Given the description of an element on the screen output the (x, y) to click on. 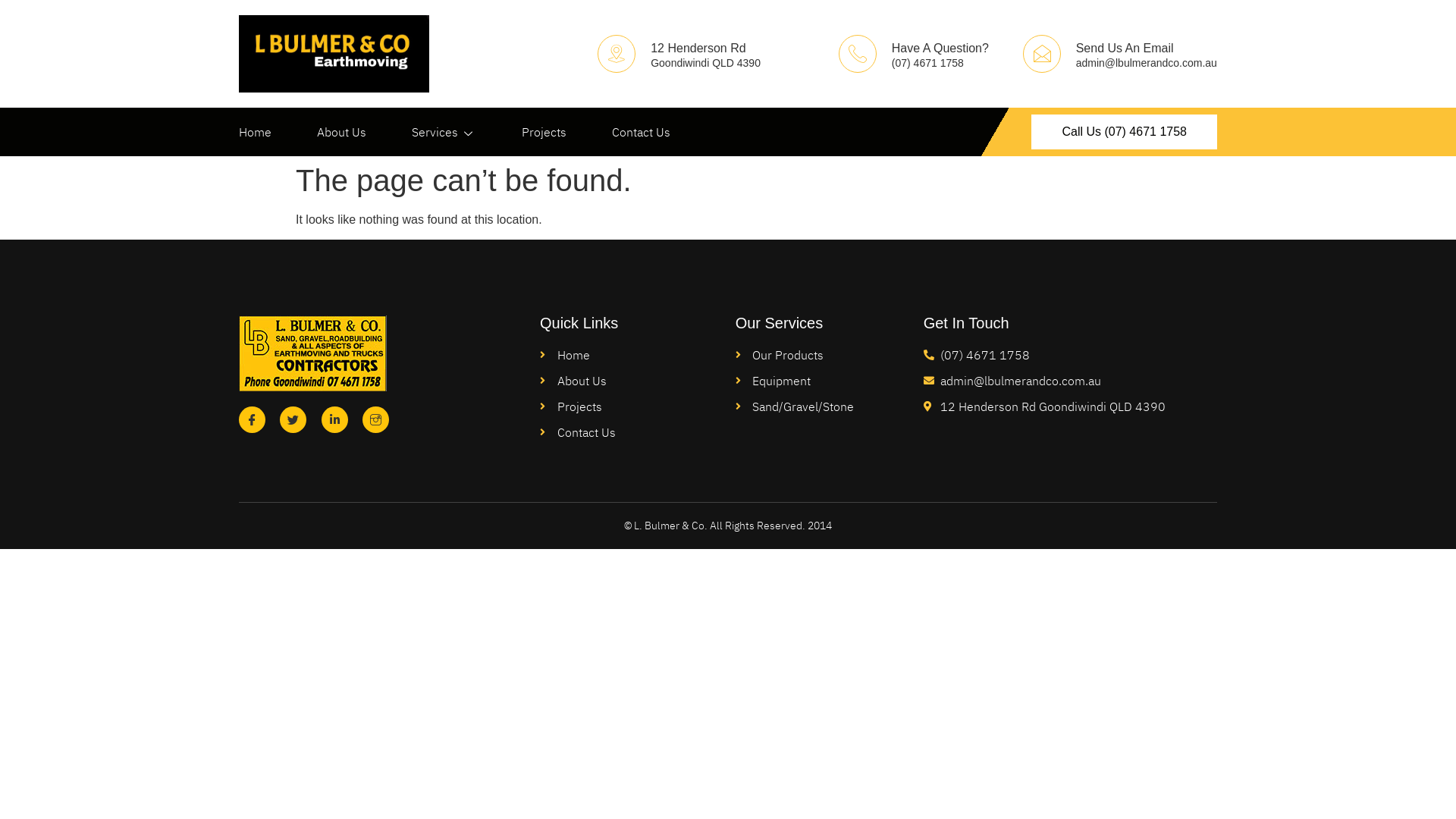
Home Element type: text (277, 131)
Sand/Gravel/Stone Element type: text (829, 406)
Send Us An Email Element type: text (1124, 47)
Services Element type: text (466, 131)
Equipment Element type: text (829, 380)
About Us Element type: text (363, 131)
admin@lbulmerandco.com.au Element type: text (1070, 380)
Projects Element type: text (566, 131)
(07) 4671 1758 Element type: text (1070, 354)
Call Us (07) 4671 1758 Element type: text (1124, 131)
Our Products Element type: text (829, 354)
Have A Question? Element type: text (939, 47)
Contact Us Element type: text (663, 131)
